Given the description of an element on the screen output the (x, y) to click on. 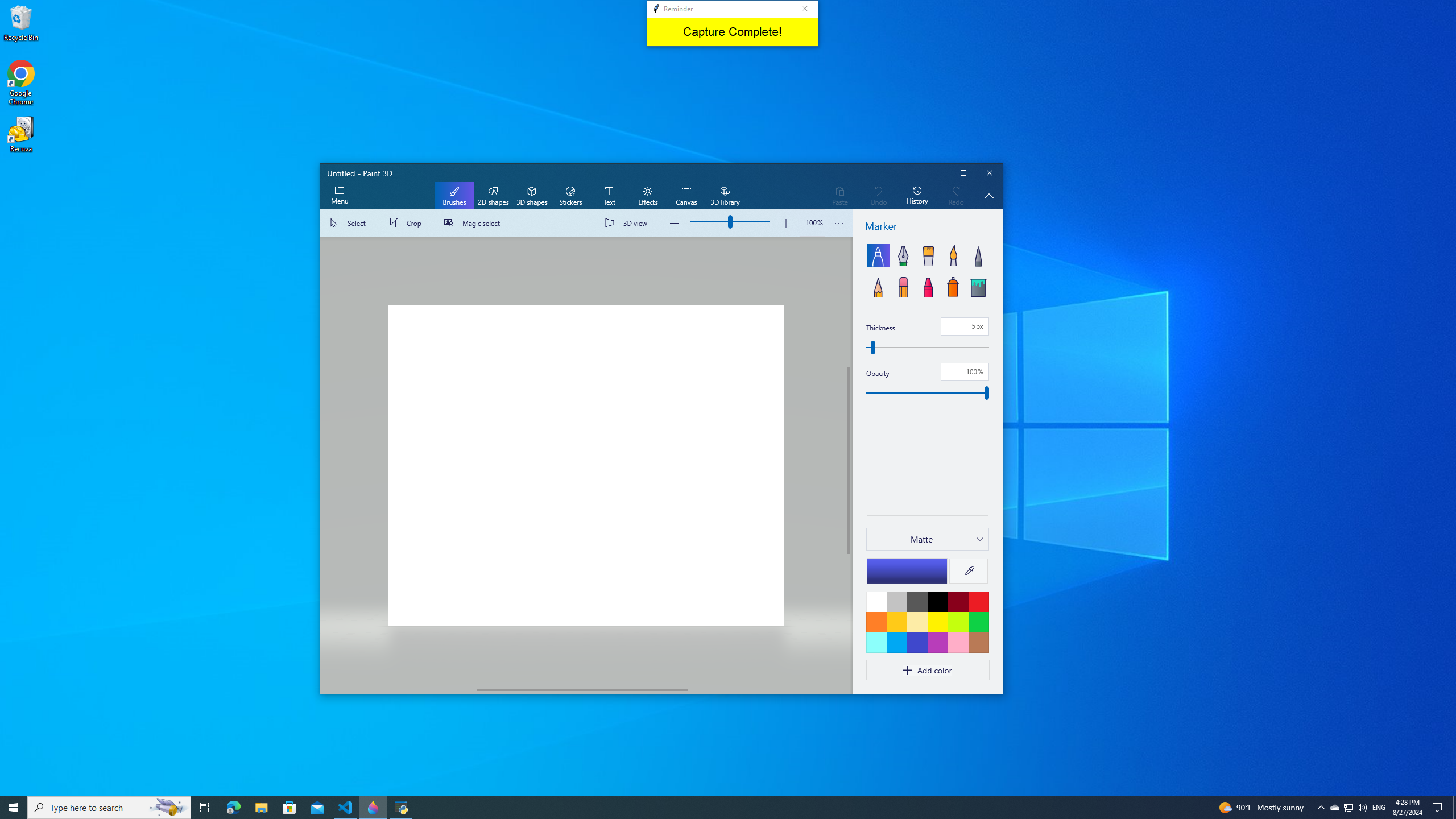
Redo (955, 195)
Matte (921, 538)
Stickers (570, 195)
Paste (840, 195)
Light yellow (917, 621)
Brushes (454, 195)
Pixel pen (978, 255)
Zoom out (674, 222)
White (876, 601)
Red (978, 601)
Zoom in (785, 222)
History (917, 195)
